Given the description of an element on the screen output the (x, y) to click on. 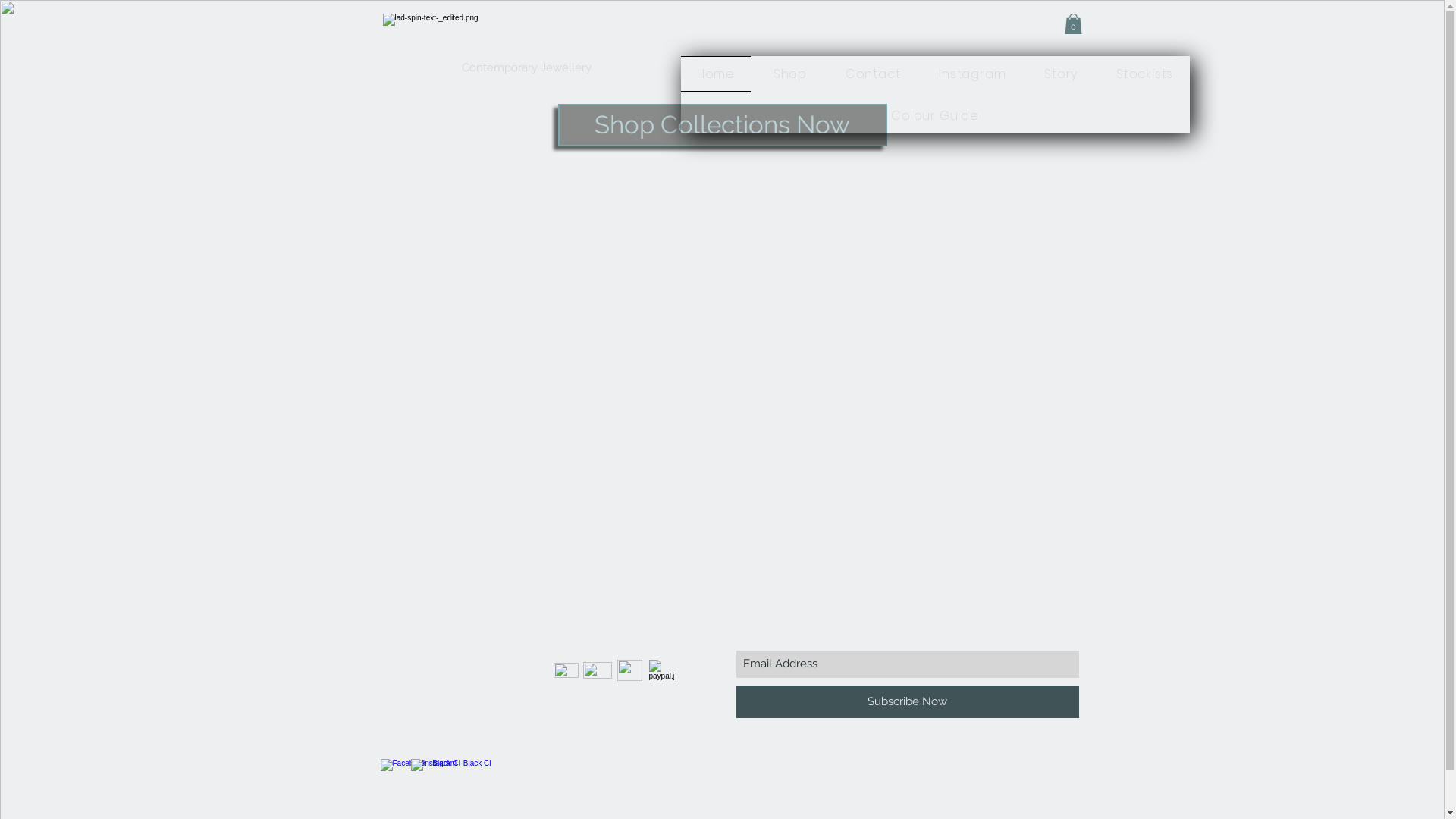
Colour Guide Element type: text (934, 115)
Instagram Element type: text (972, 73)
Contact Element type: text (872, 73)
Subscribe Now Element type: text (906, 701)
Shop Collections Now Element type: text (722, 124)
Home Element type: text (715, 73)
Stockists Element type: text (1144, 73)
lad-spin-text-.gif Element type: hover (515, 43)
Shop Element type: text (789, 73)
Story Element type: text (1061, 73)
0 Element type: text (1073, 23)
